Given the description of an element on the screen output the (x, y) to click on. 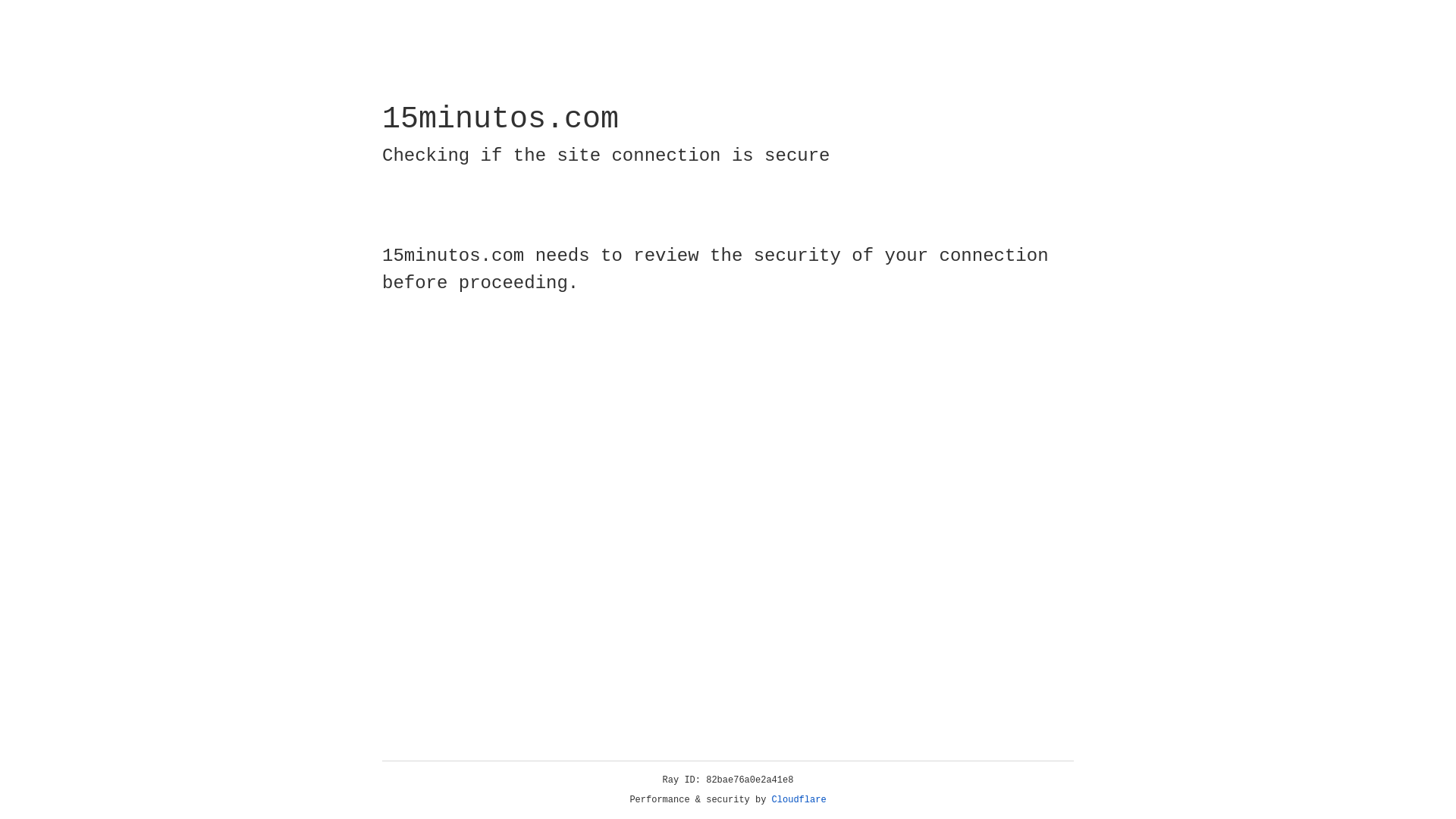
Cloudflare Element type: text (798, 799)
